Given the description of an element on the screen output the (x, y) to click on. 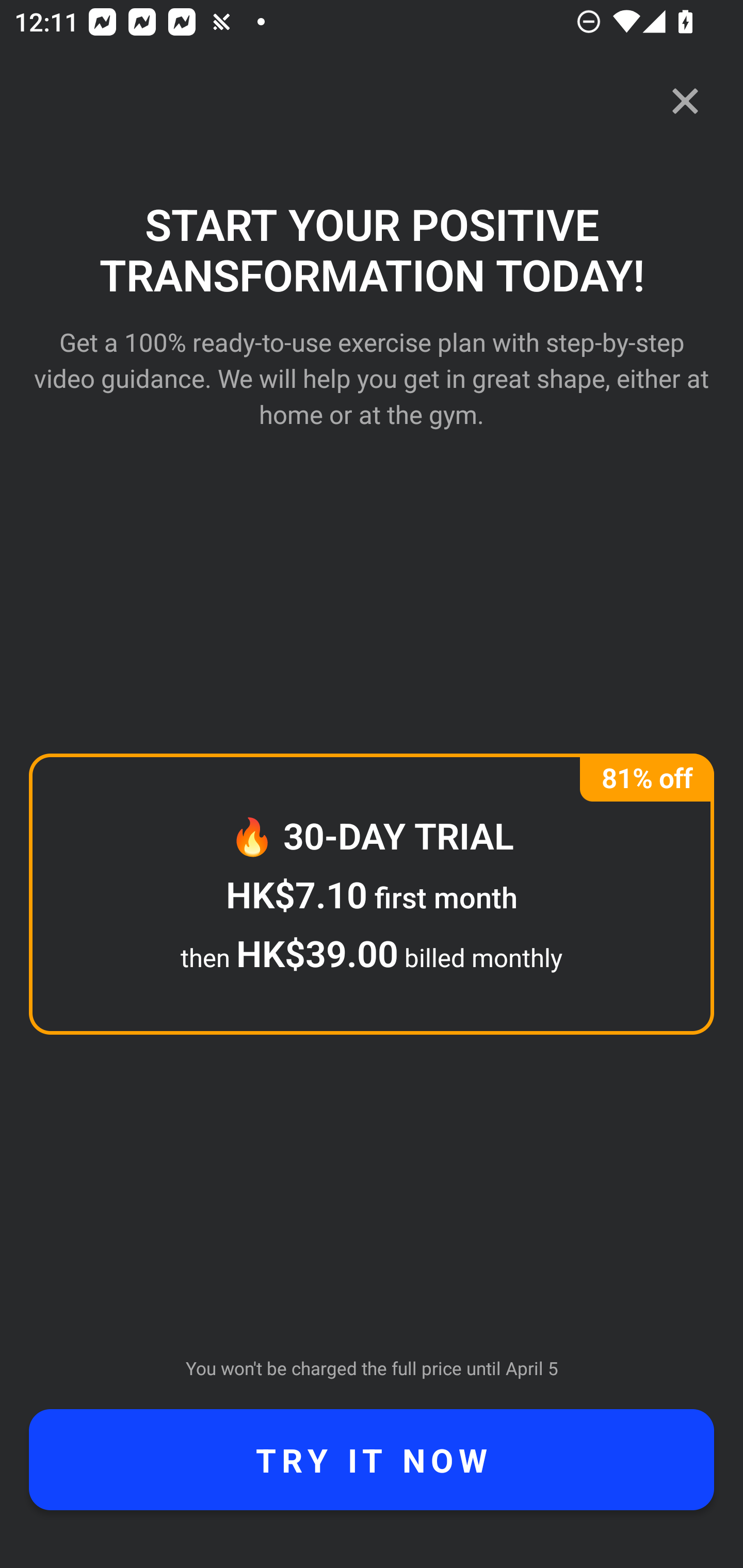
Close (684, 101)
TRY IT NOW (371, 1459)
